Given the description of an element on the screen output the (x, y) to click on. 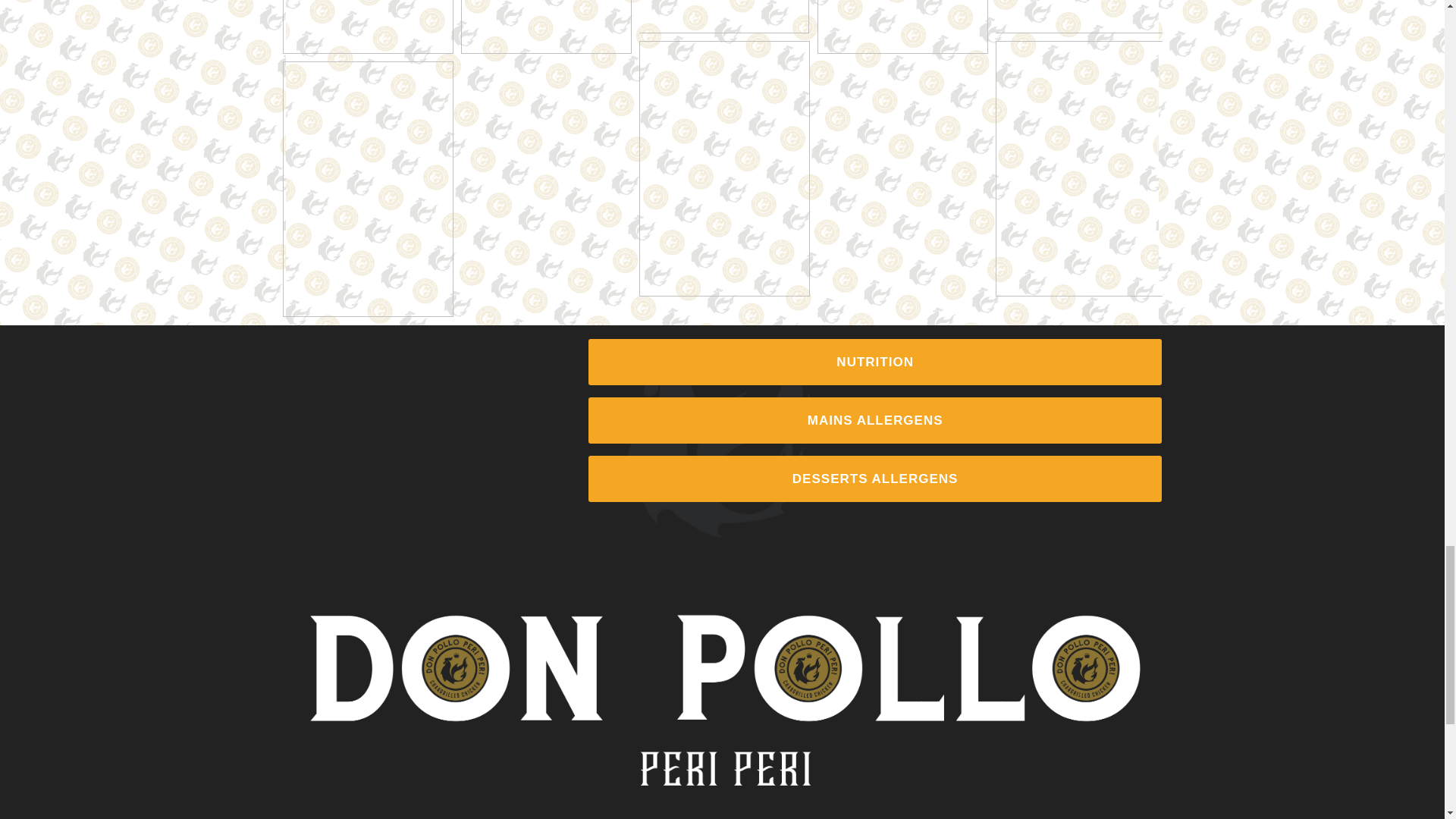
NUTRITION (874, 361)
DESSERTS ALLERGENS (874, 478)
MAINS ALLERGENS (874, 420)
